Given the description of an element on the screen output the (x, y) to click on. 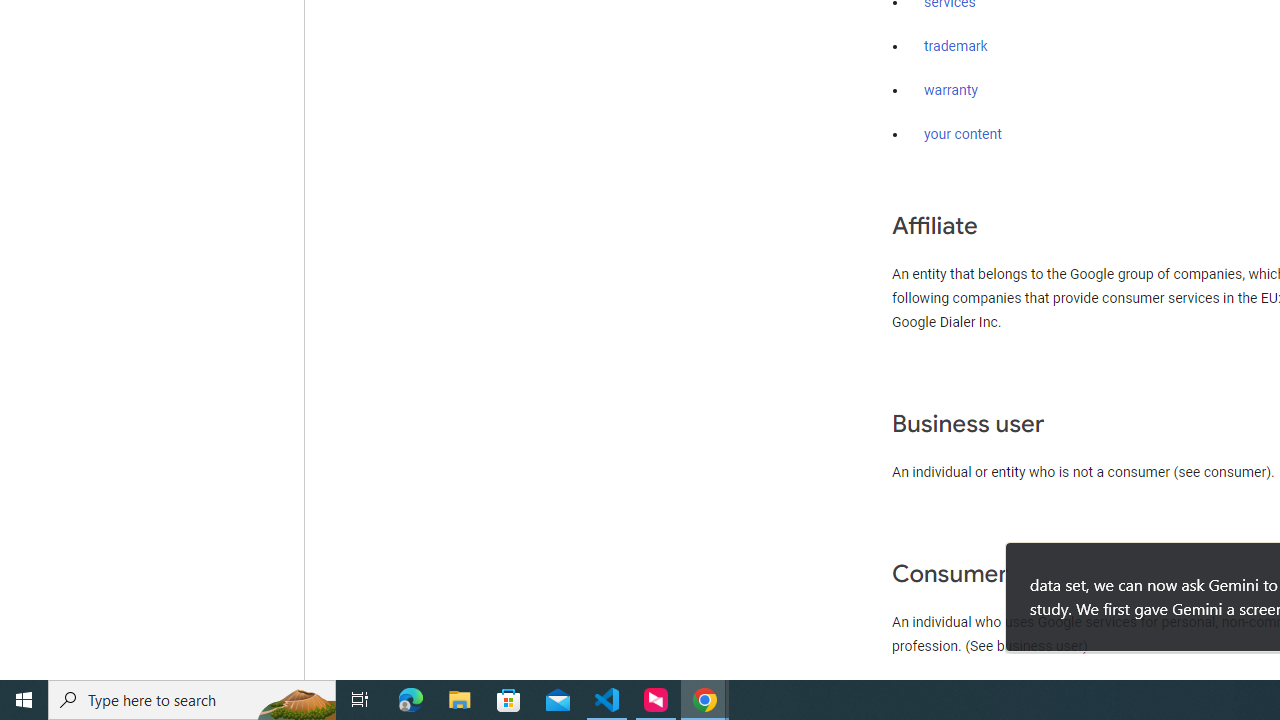
warranty (950, 91)
trademark (956, 47)
your content (963, 134)
